Given the description of an element on the screen output the (x, y) to click on. 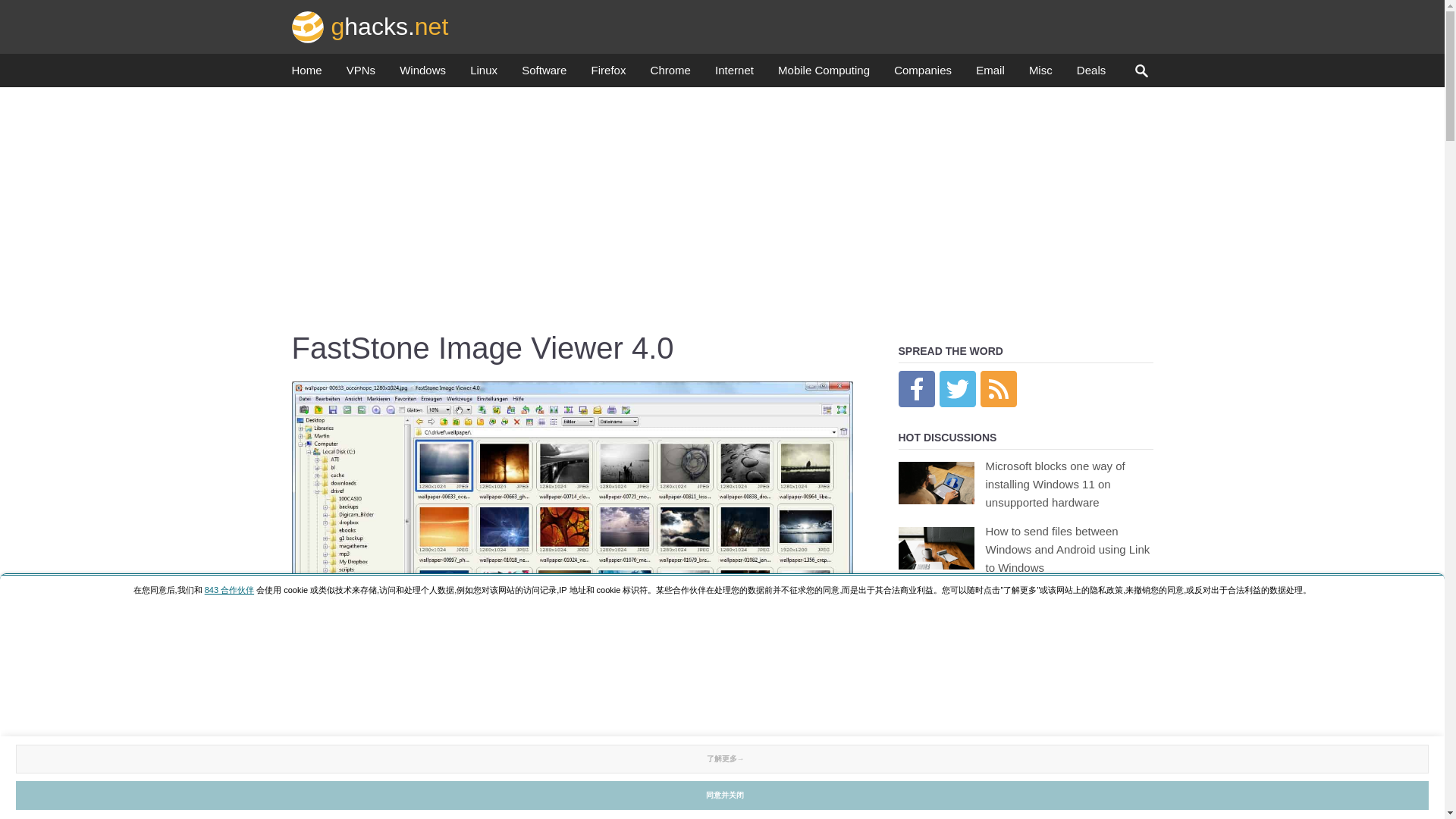
Mobile Computing (823, 73)
Internet (734, 73)
Home (306, 73)
ghacks.net (369, 26)
Deals (1091, 73)
Companies (922, 73)
VPNs (360, 73)
Email (989, 73)
Chrome (670, 73)
Software (543, 73)
